Given the description of an element on the screen output the (x, y) to click on. 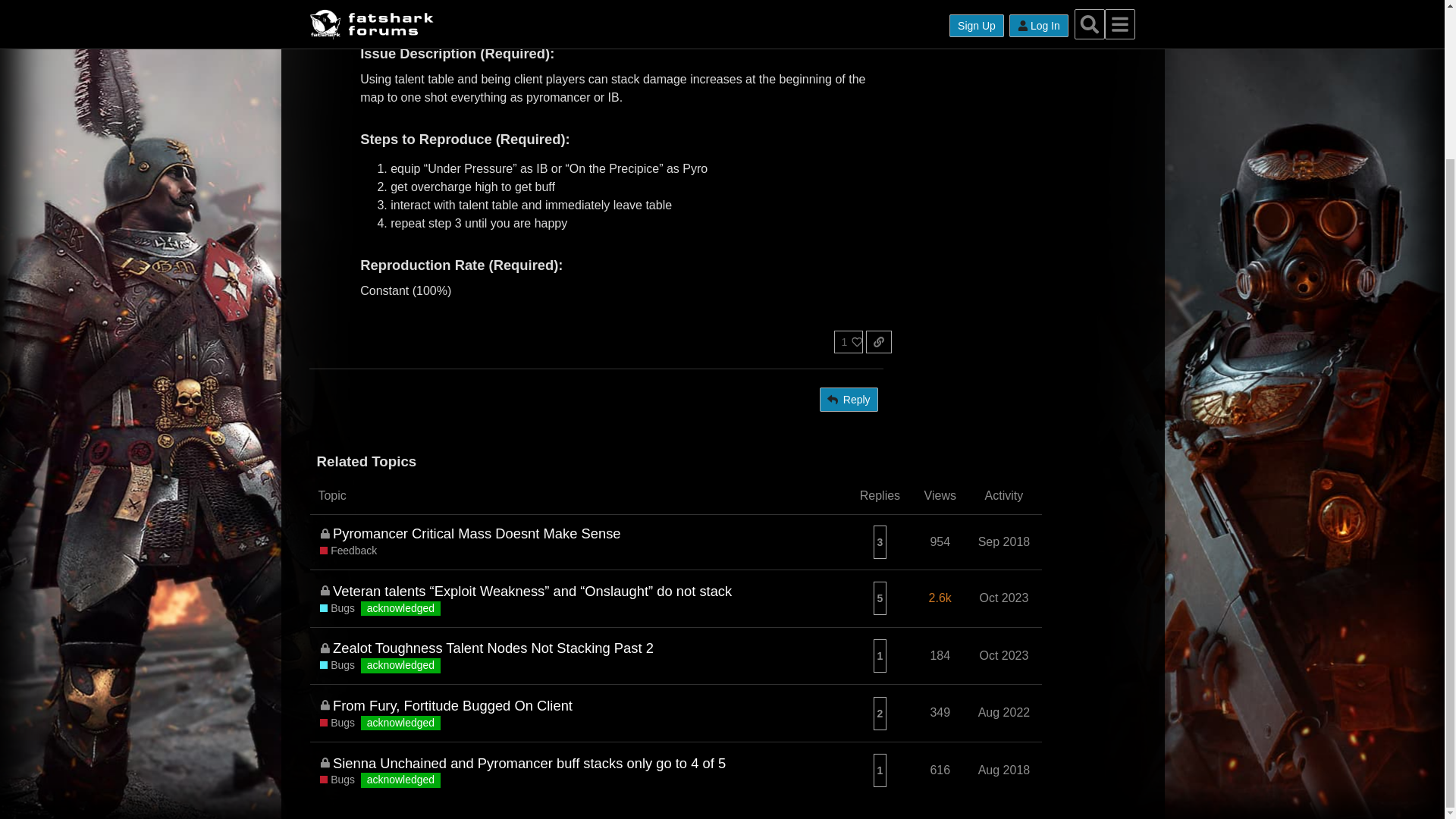
acknowledged (401, 665)
copy a link to this post to clipboard (878, 341)
1 (848, 341)
Zealot Toughness Talent Nodes Not Stacking Past 2 (493, 647)
From Fury, Fortitude Bugged On Client (452, 705)
Reply (848, 399)
Pyromancer Critical Mass Doesnt Make Sense (477, 533)
Bugs (337, 665)
acknowledged (401, 608)
